Given the description of an element on the screen output the (x, y) to click on. 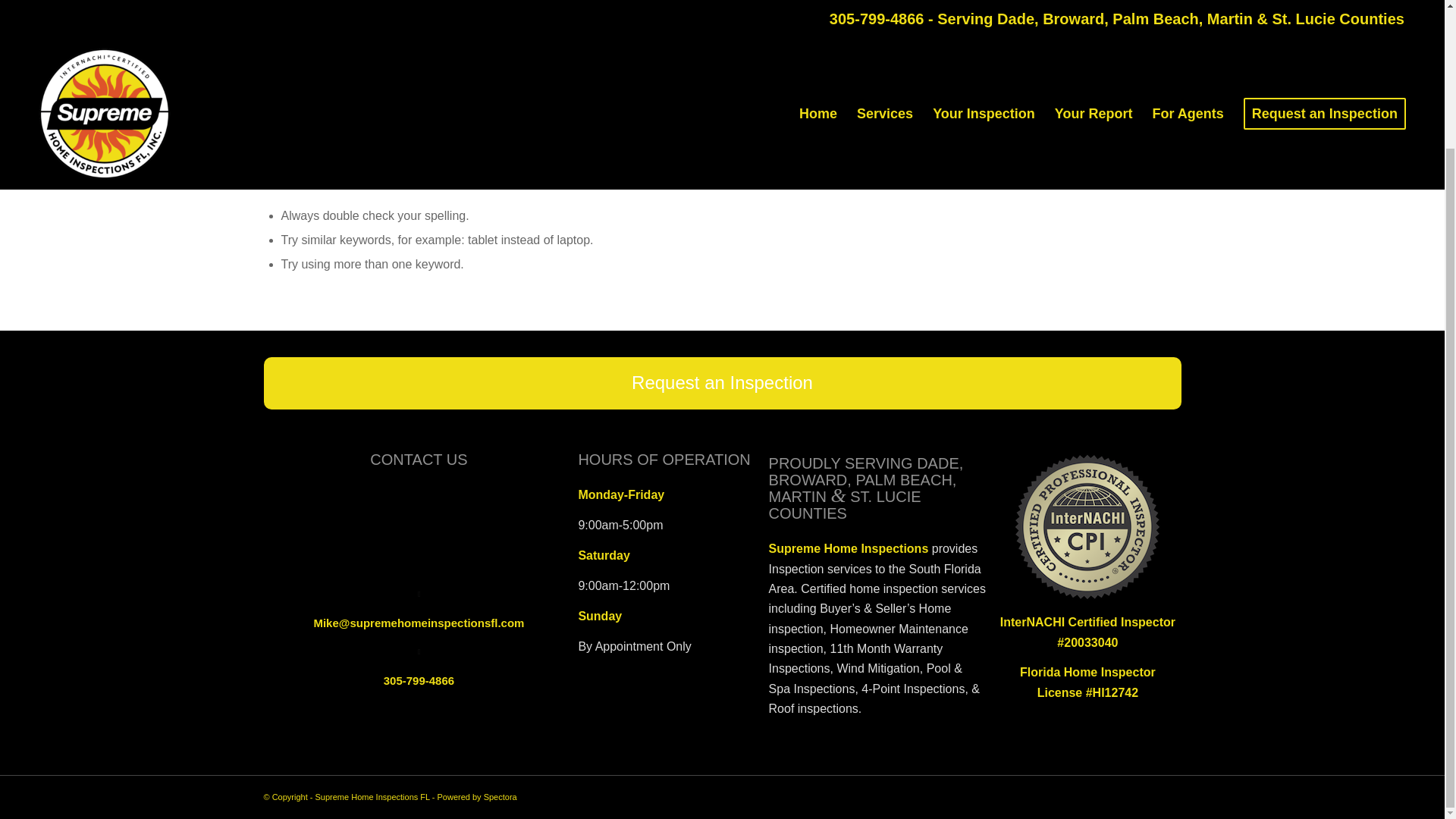
Request an Inspection (1324, 9)
Request an Inspection (721, 383)
Home (818, 9)
Click to start search (476, 116)
Your Report (1093, 9)
For Agents (1187, 9)
Your Inspection (984, 9)
certified-professional-inspector (1087, 526)
Services (885, 9)
305-799-4866 (419, 680)
